Given the description of an element on the screen output the (x, y) to click on. 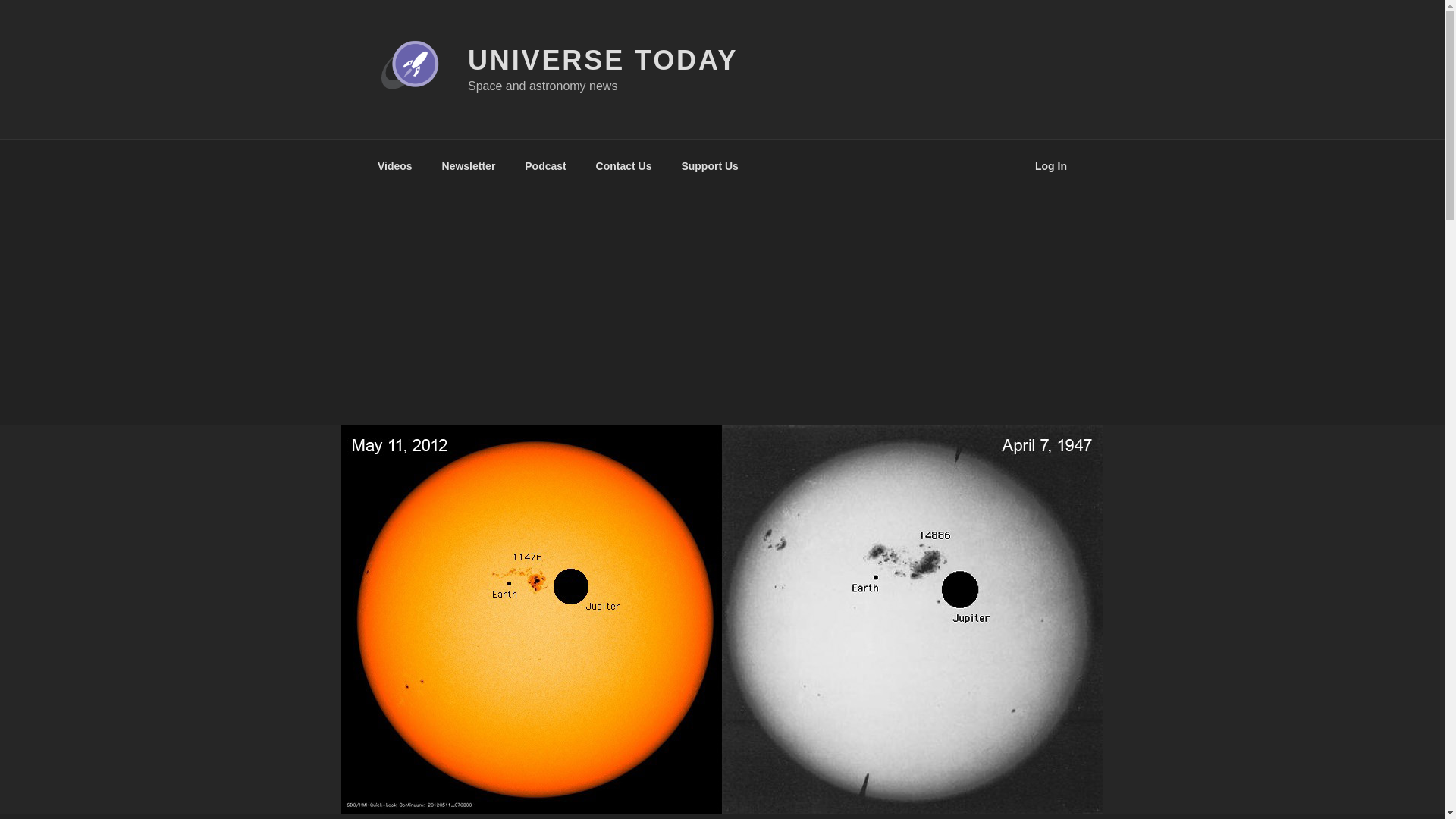
UNIVERSE TODAY (602, 60)
Newsletter (468, 165)
Contact Us (623, 165)
Podcast (545, 165)
Support Us (709, 165)
Videos (394, 165)
Log In (1051, 165)
